Given the description of an element on the screen output the (x, y) to click on. 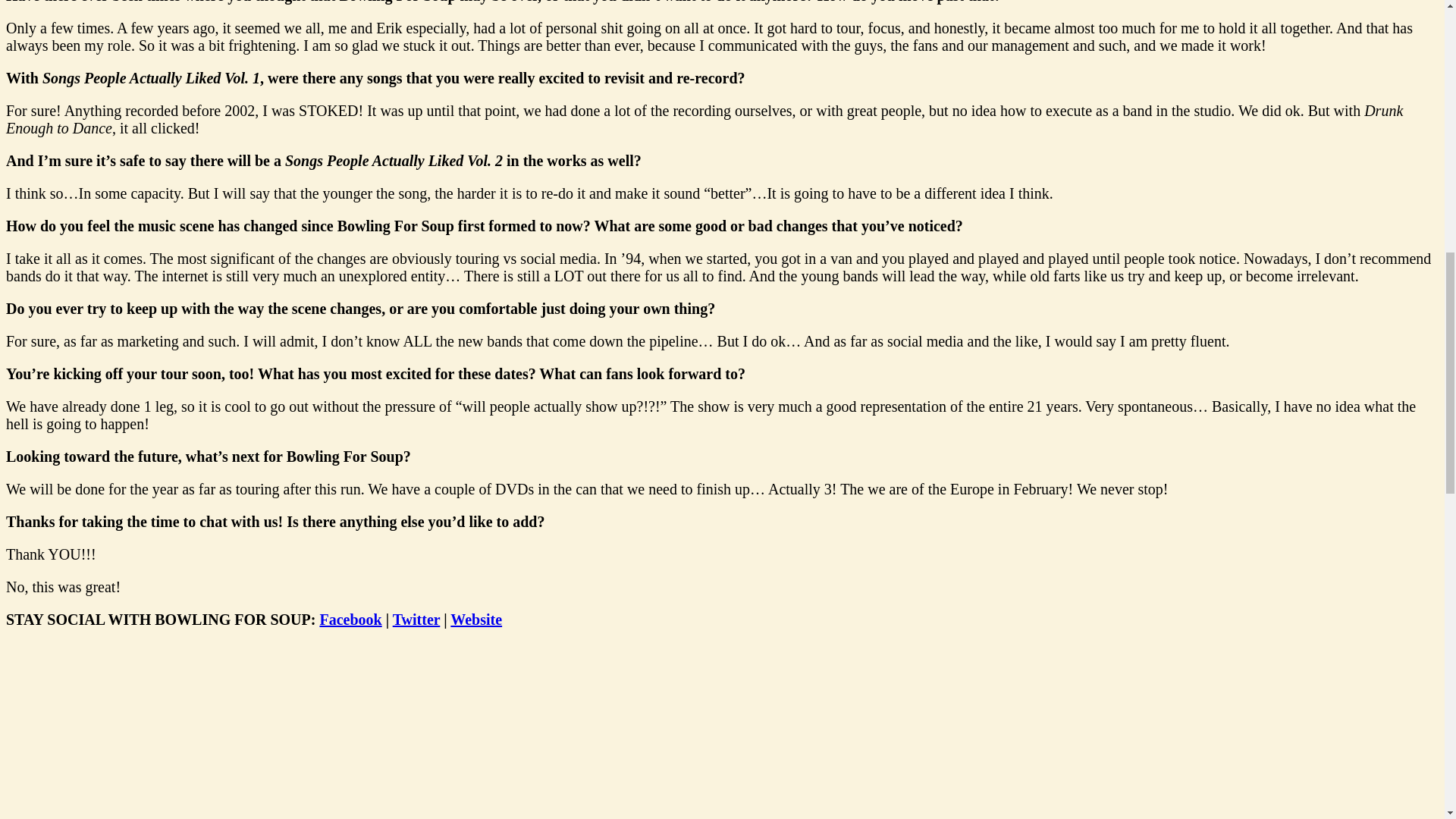
Twitter (417, 619)
Website (475, 619)
Facebook (349, 619)
